Given the description of an element on the screen output the (x, y) to click on. 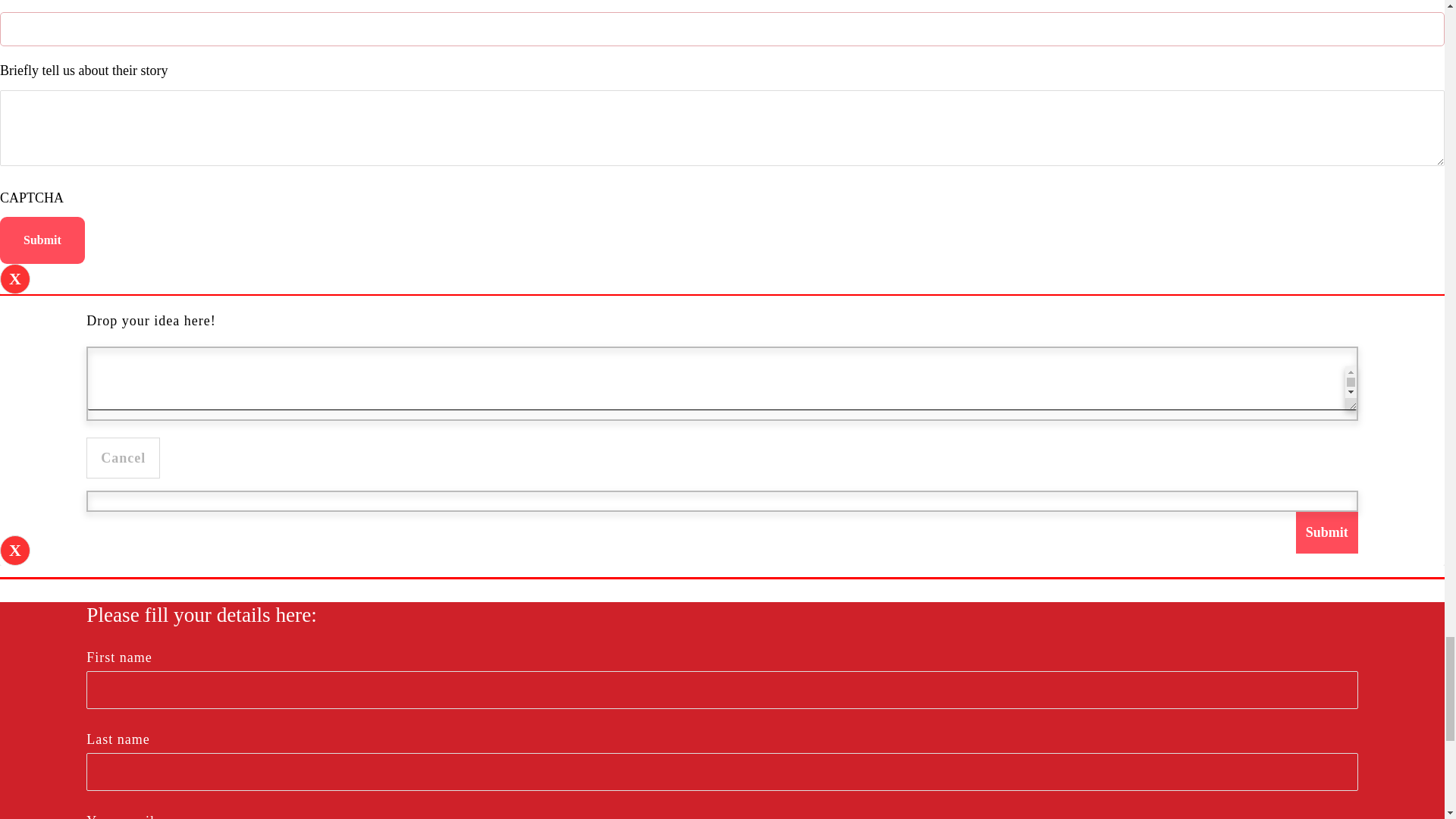
Submit (1326, 532)
Submit (42, 240)
